Given the description of an element on the screen output the (x, y) to click on. 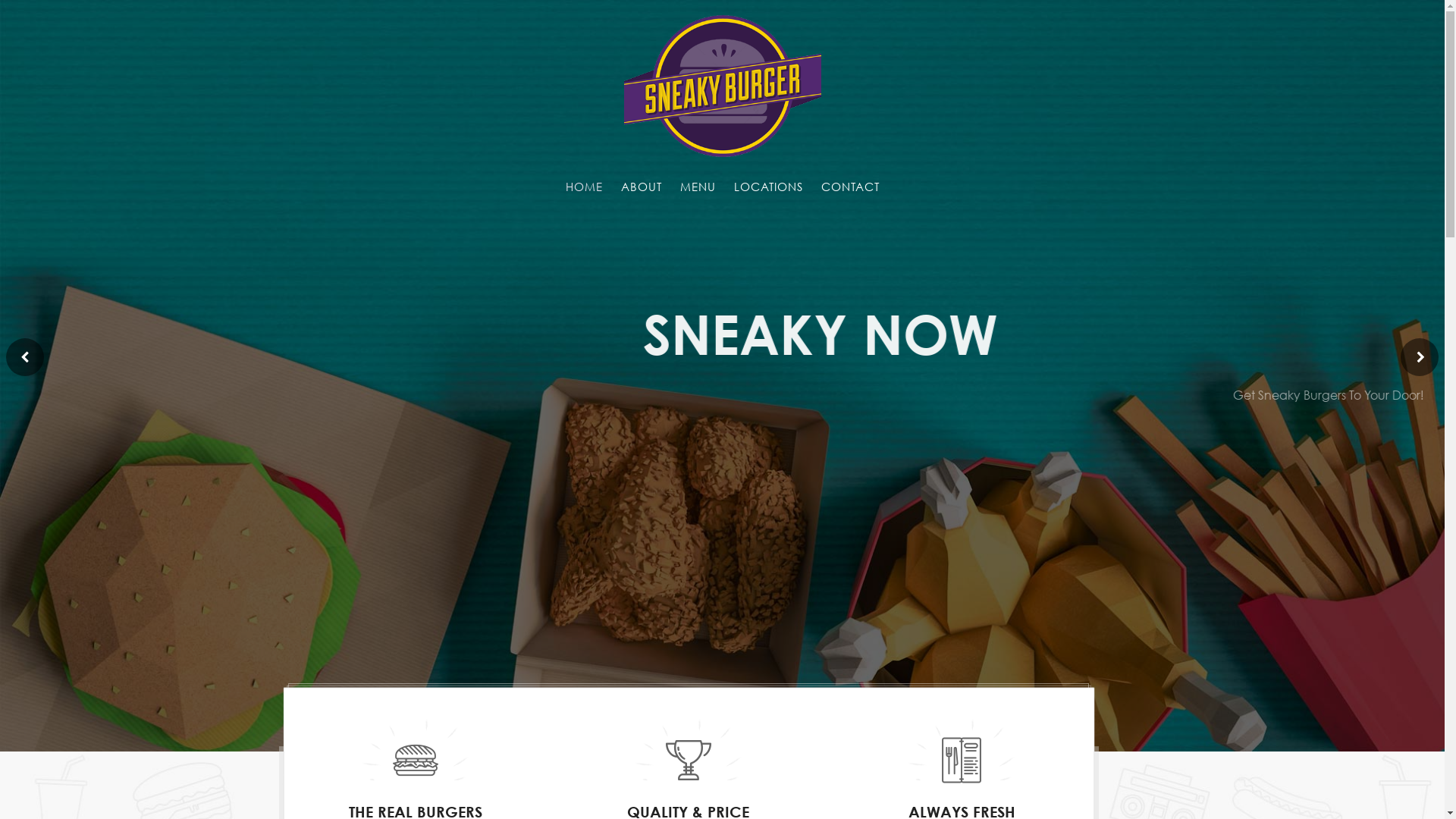
Prev Element type: text (24, 357)
ABOUT Element type: text (640, 193)
LOCATIONS Element type: text (768, 193)
HOME Element type: text (584, 193)
CONTACT Element type: text (849, 193)
SEE MENU Element type: text (721, 481)
Next Element type: text (1419, 357)
MENU Element type: text (696, 193)
